Given the description of an element on the screen output the (x, y) to click on. 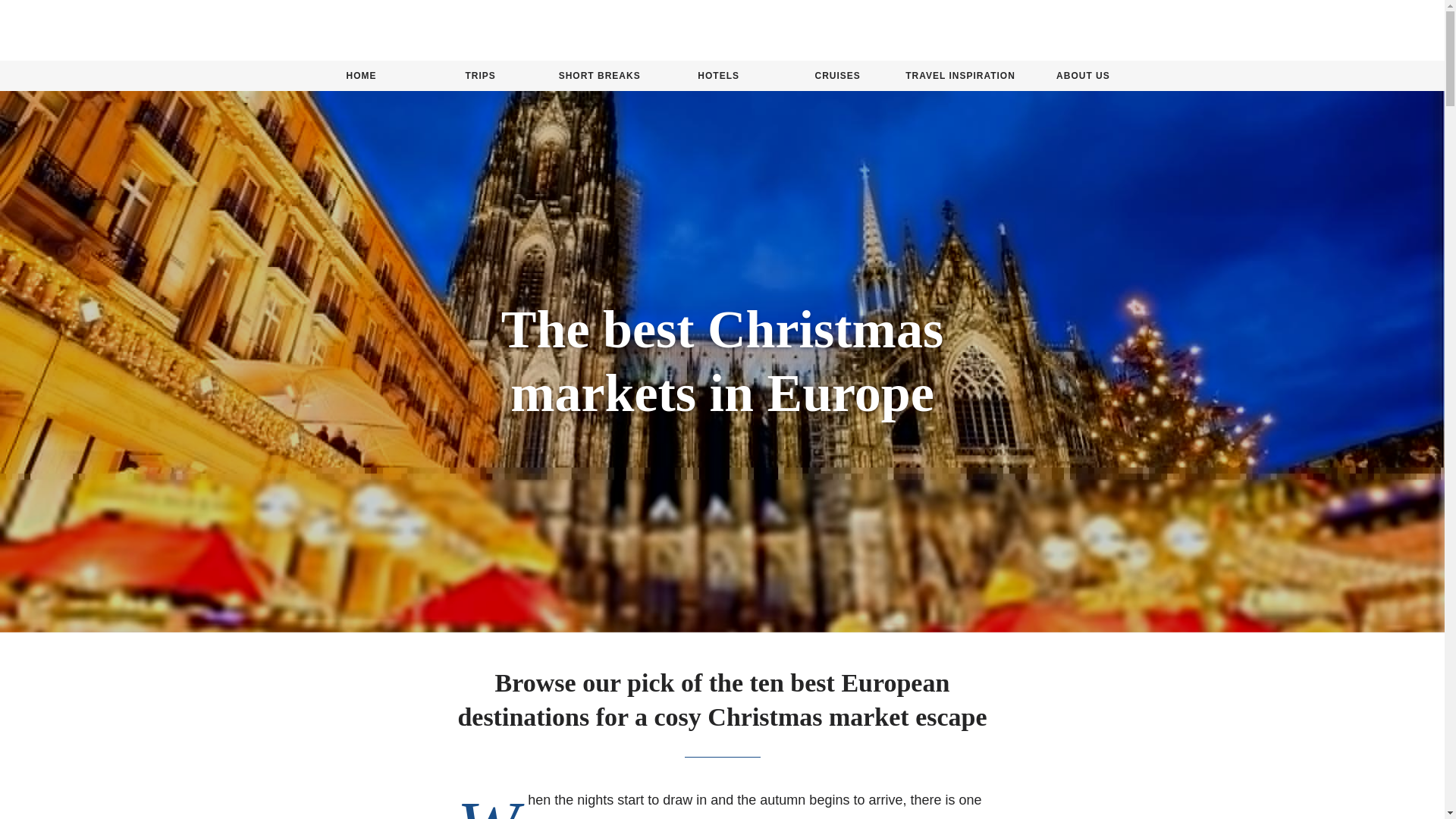
TRIPS (480, 75)
HOTELS (718, 75)
HOME (361, 75)
ABOUT US (1083, 75)
SHORT BREAKS (599, 75)
TRAVEL INSPIRATION (959, 75)
CRUISES (837, 75)
